Given the description of an element on the screen output the (x, y) to click on. 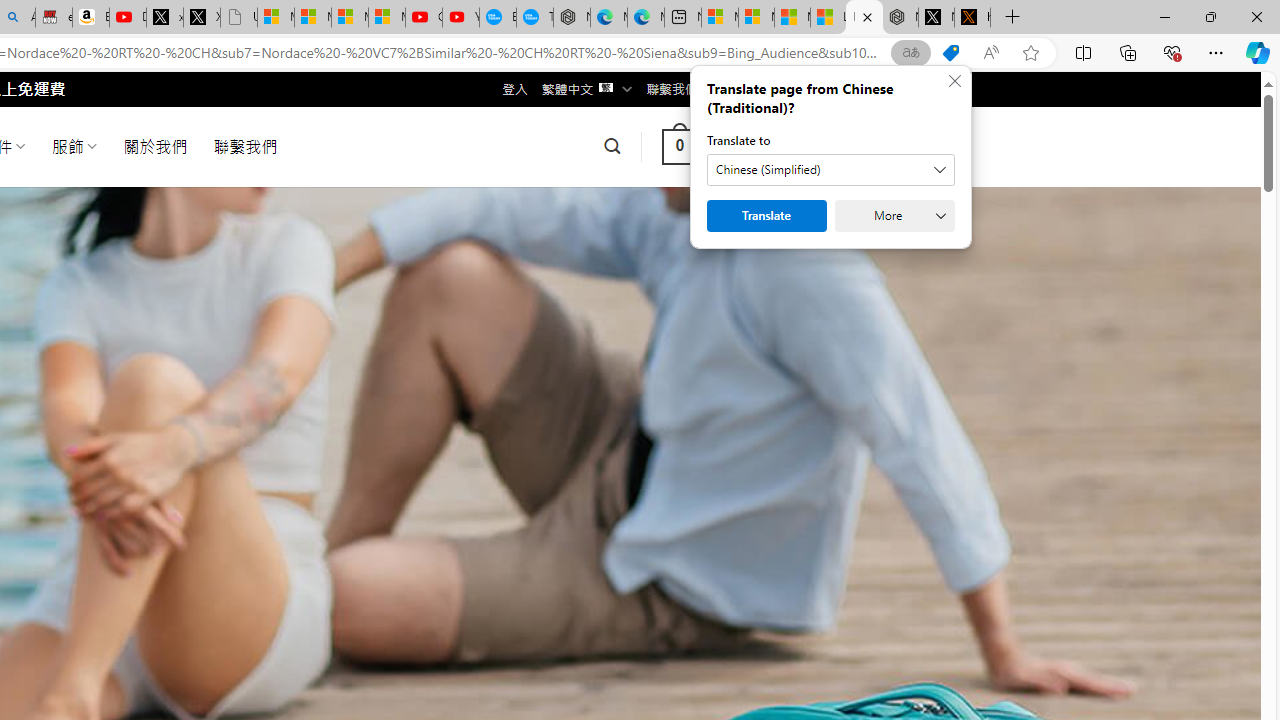
Show translate options (910, 53)
Nordace (@NordaceOfficial) / X (936, 17)
Microsoft account | Privacy (756, 17)
  0   (679, 146)
